Given the description of an element on the screen output the (x, y) to click on. 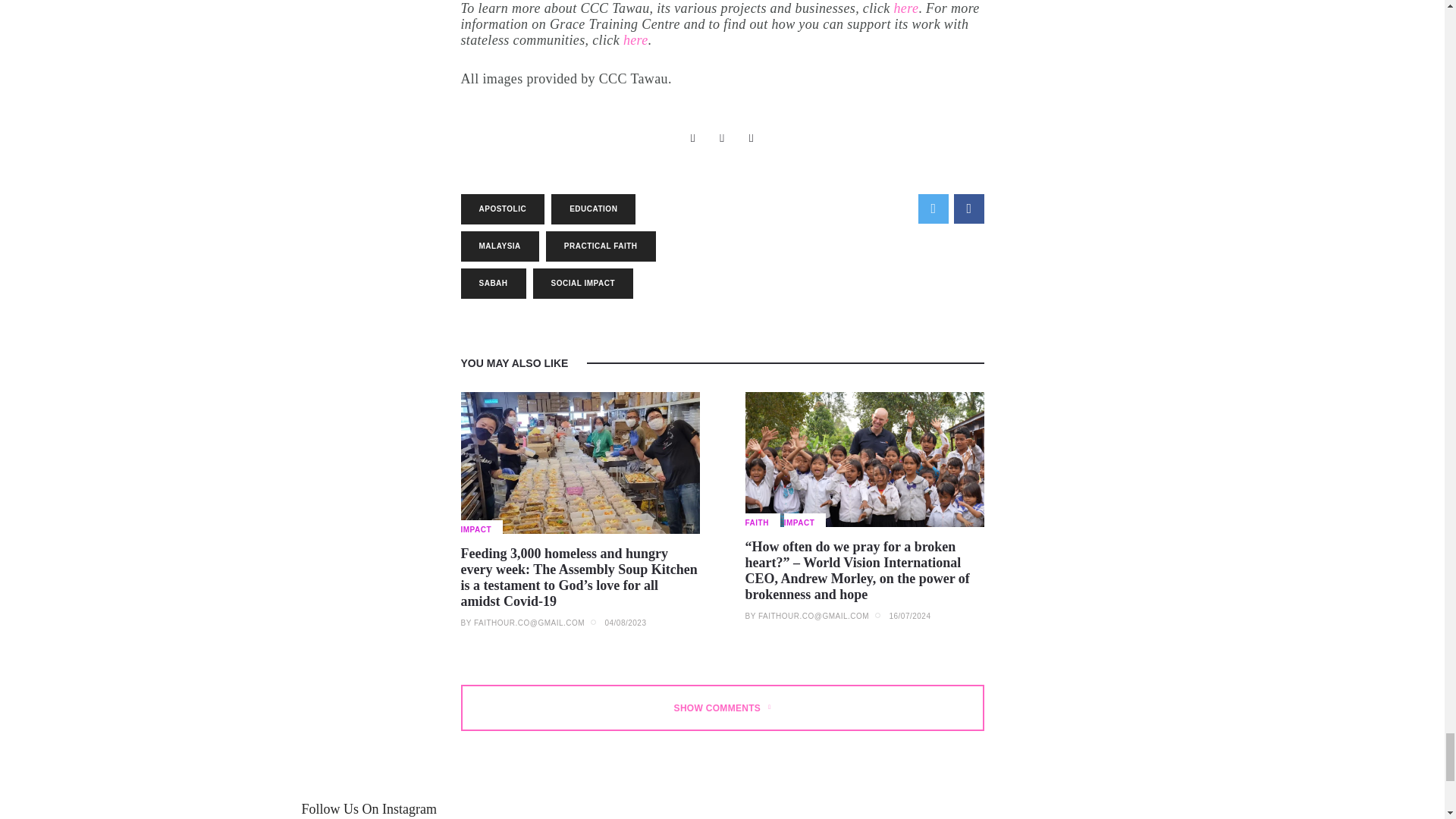
here (905, 7)
here (635, 39)
